Given the description of an element on the screen output the (x, y) to click on. 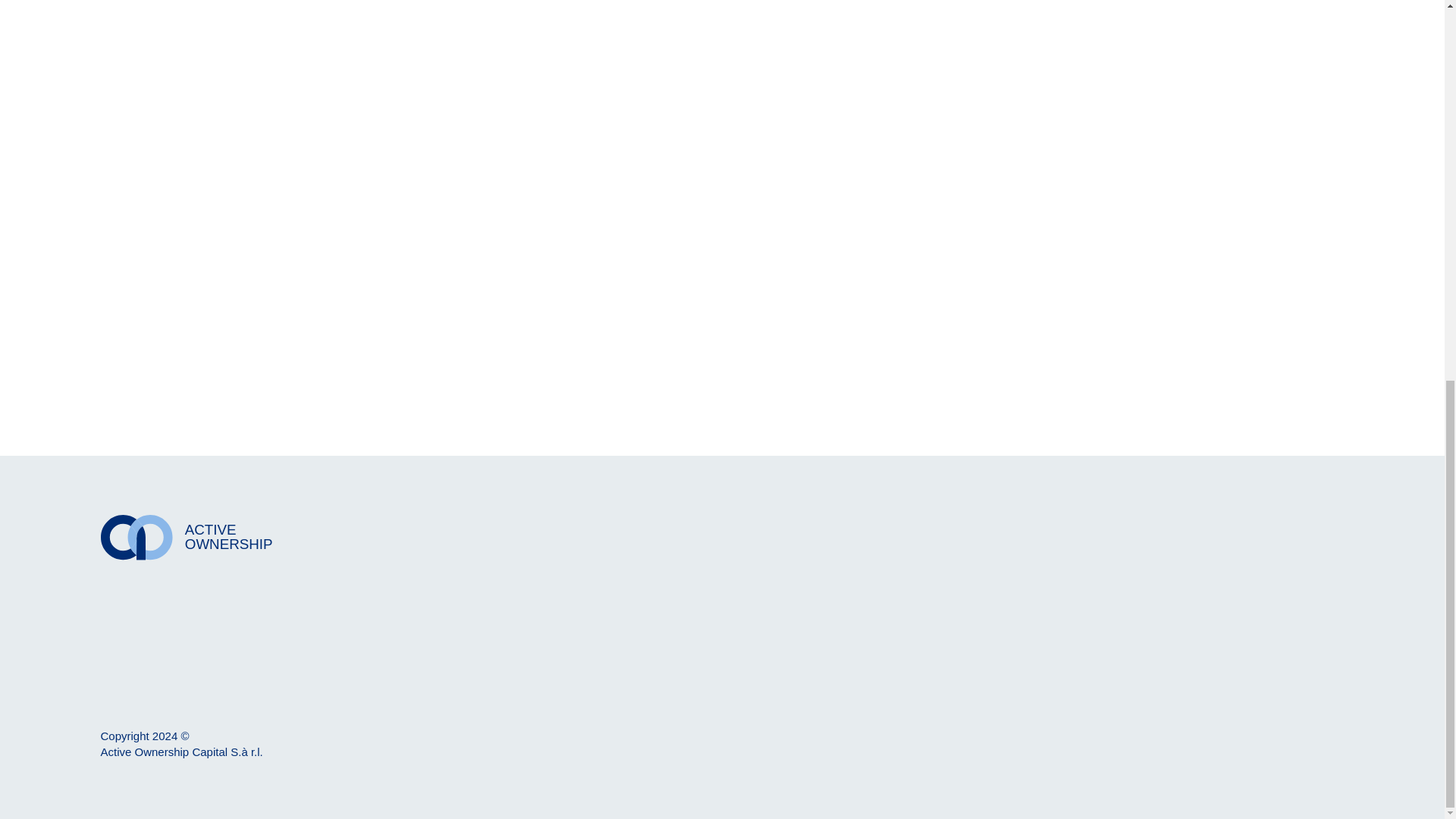
ACTIVE OWNERSHIP (403, 537)
